Given the description of an element on the screen output the (x, y) to click on. 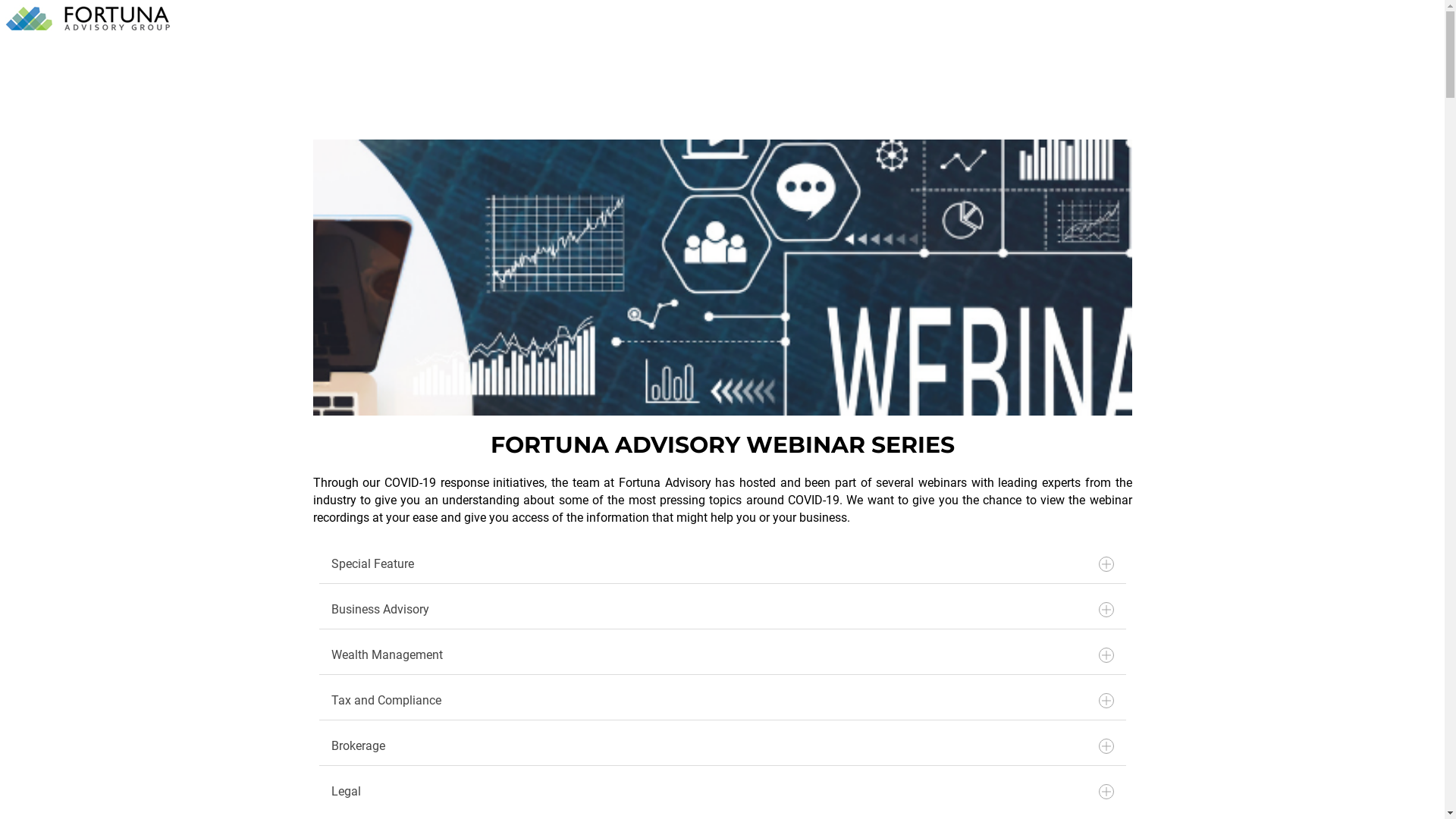
Special Feature Element type: text (721, 563)
Tax and Compliance Element type: text (721, 700)
Brokerage Element type: text (721, 745)
Business Advisory Element type: text (721, 609)
Legal Element type: text (721, 791)
Wealth Management Element type: text (721, 654)
